Given the description of an element on the screen output the (x, y) to click on. 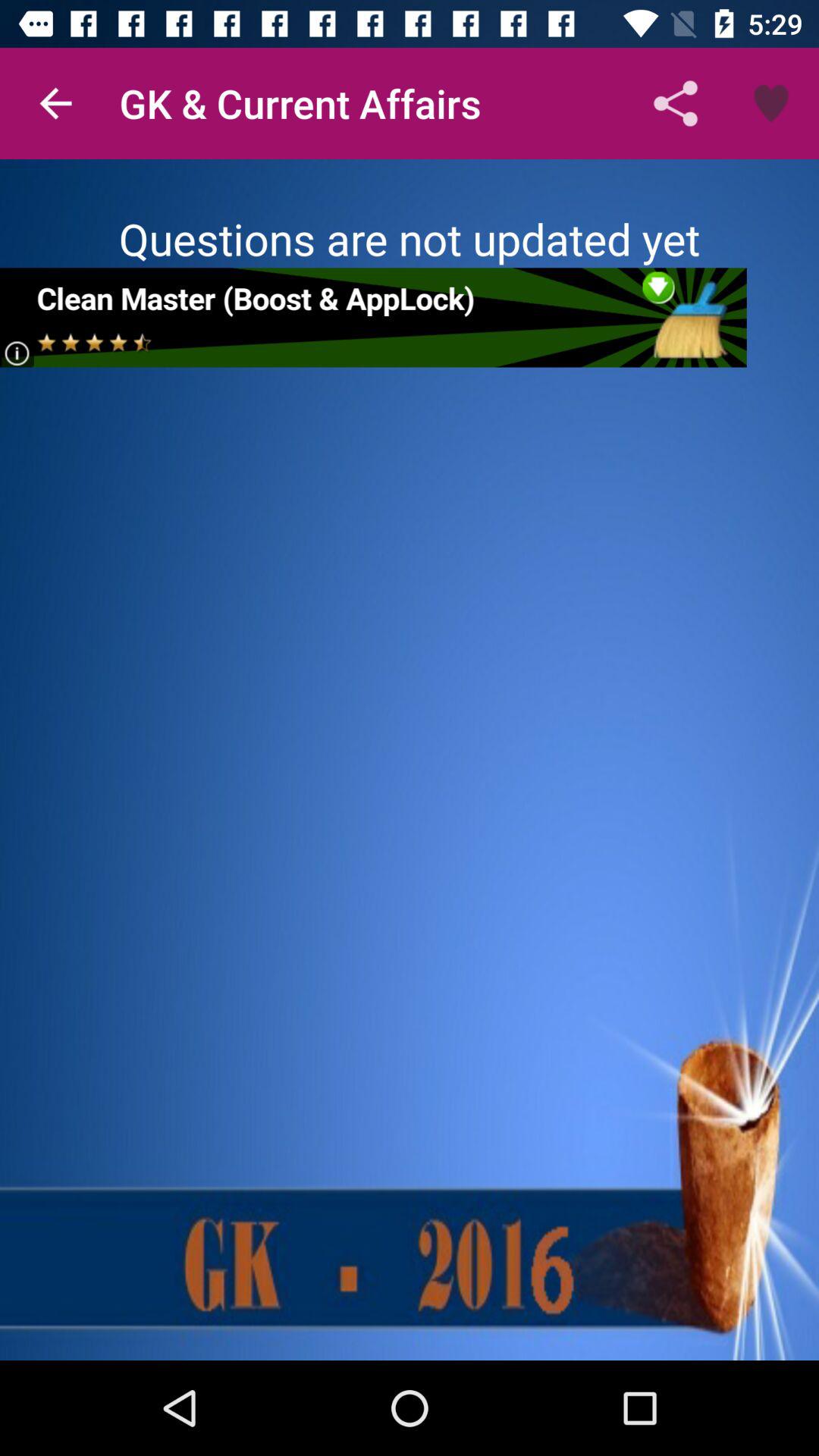
share the article (373, 317)
